Given the description of an element on the screen output the (x, y) to click on. 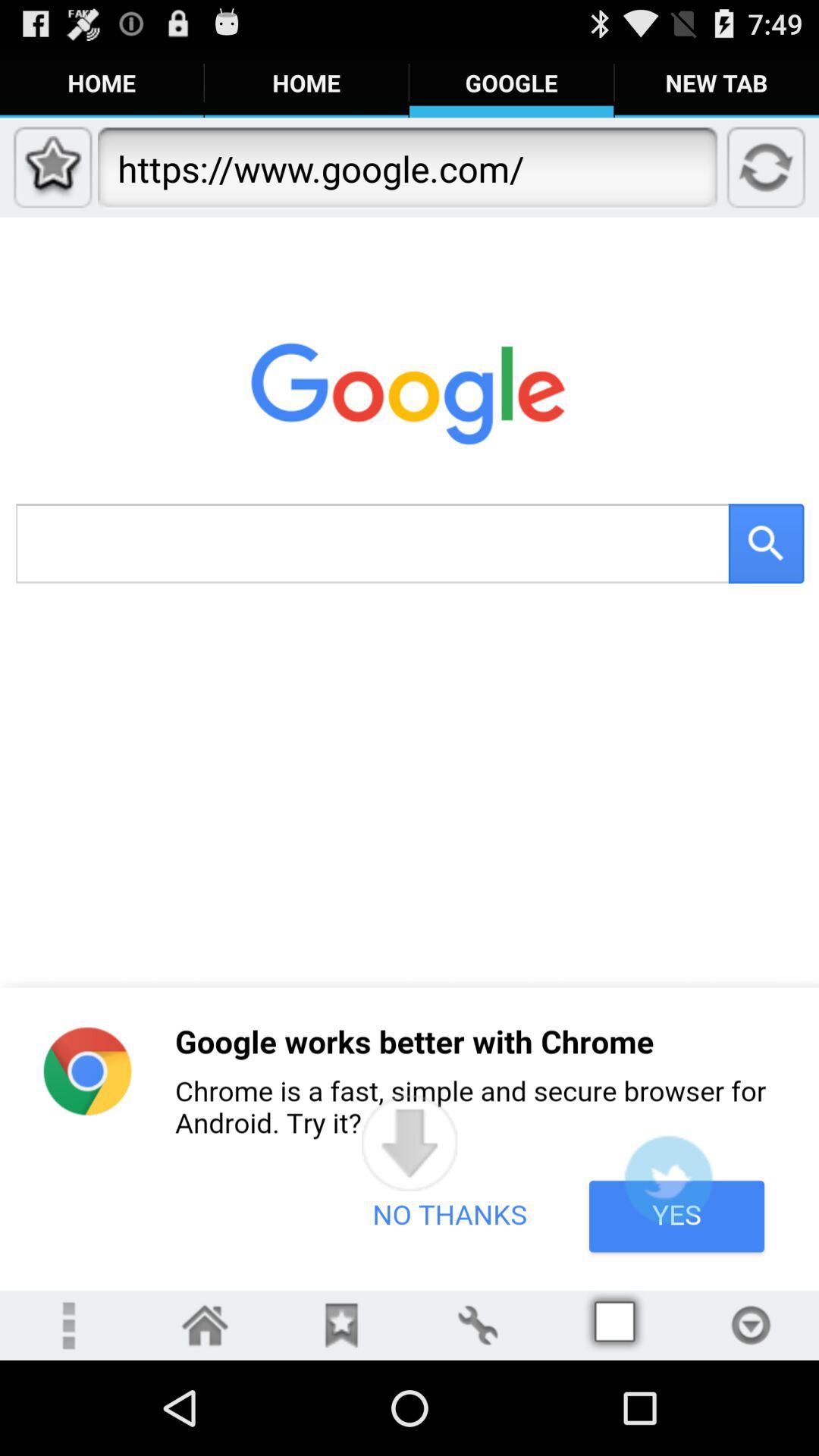
open settings (477, 1325)
